Given the description of an element on the screen output the (x, y) to click on. 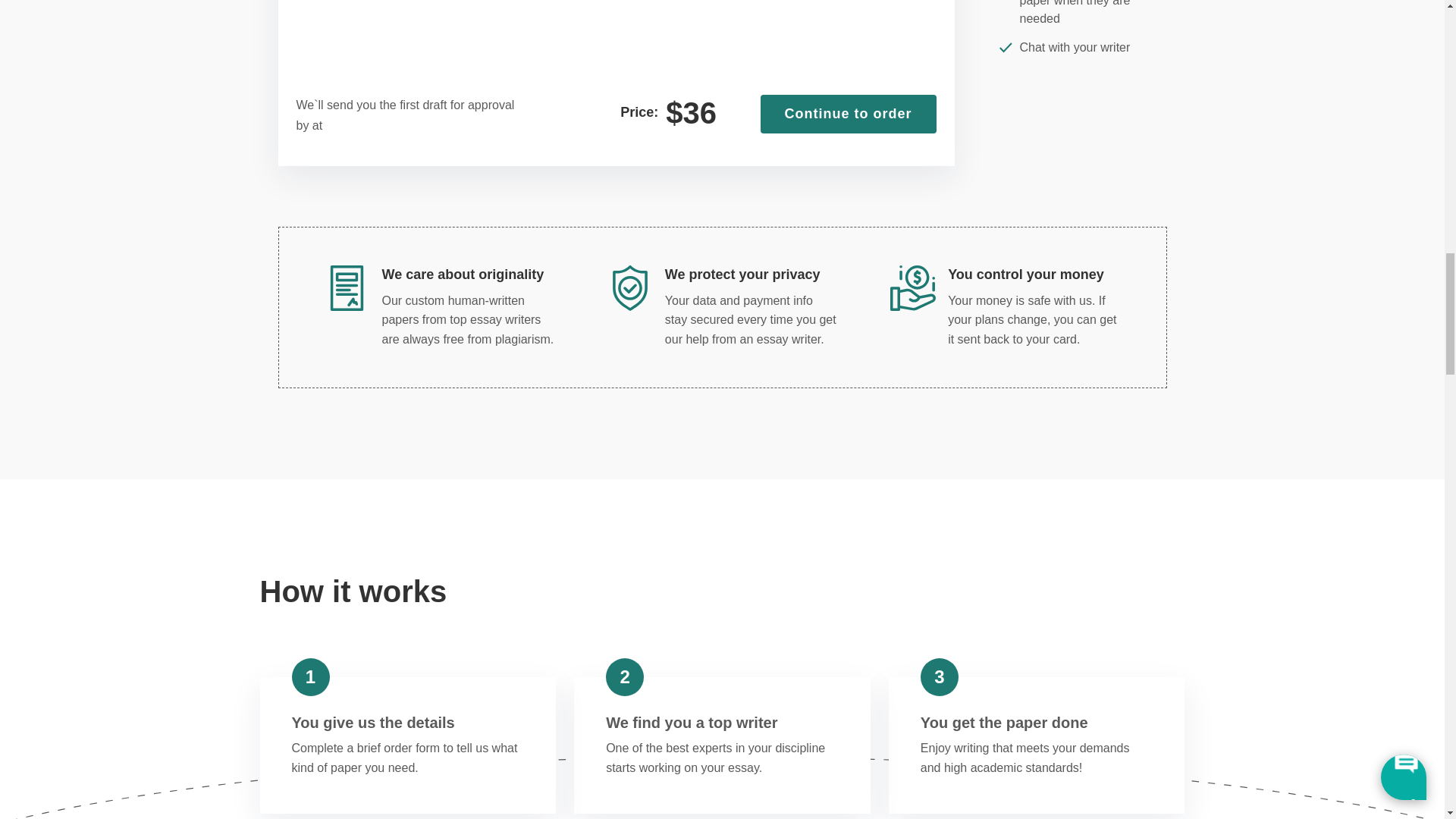
Continue to order (848, 114)
